Given the description of an element on the screen output the (x, y) to click on. 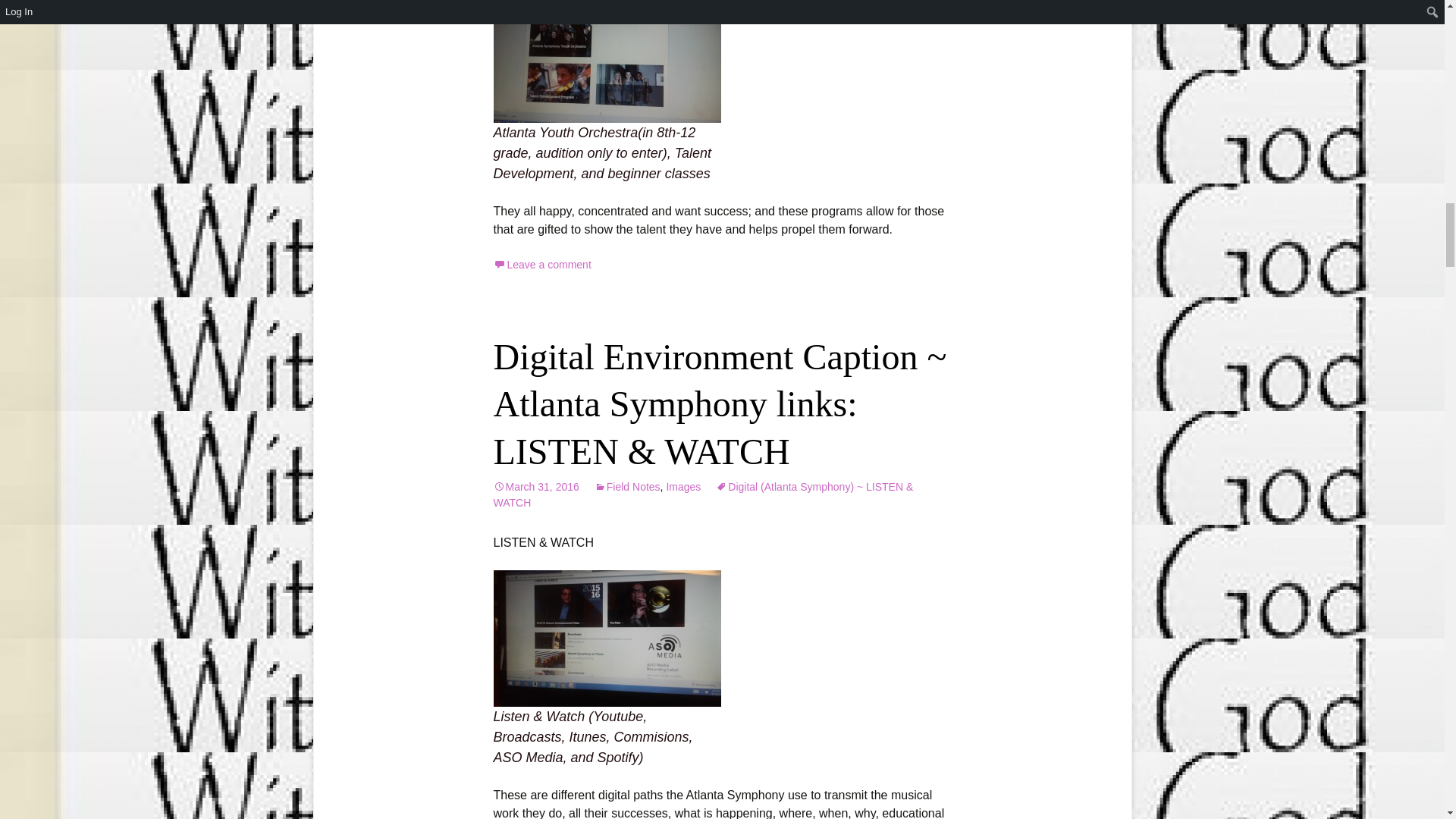
Field Notes (627, 486)
Leave a comment (542, 264)
March 31, 2016 (535, 486)
